Given the description of an element on the screen output the (x, y) to click on. 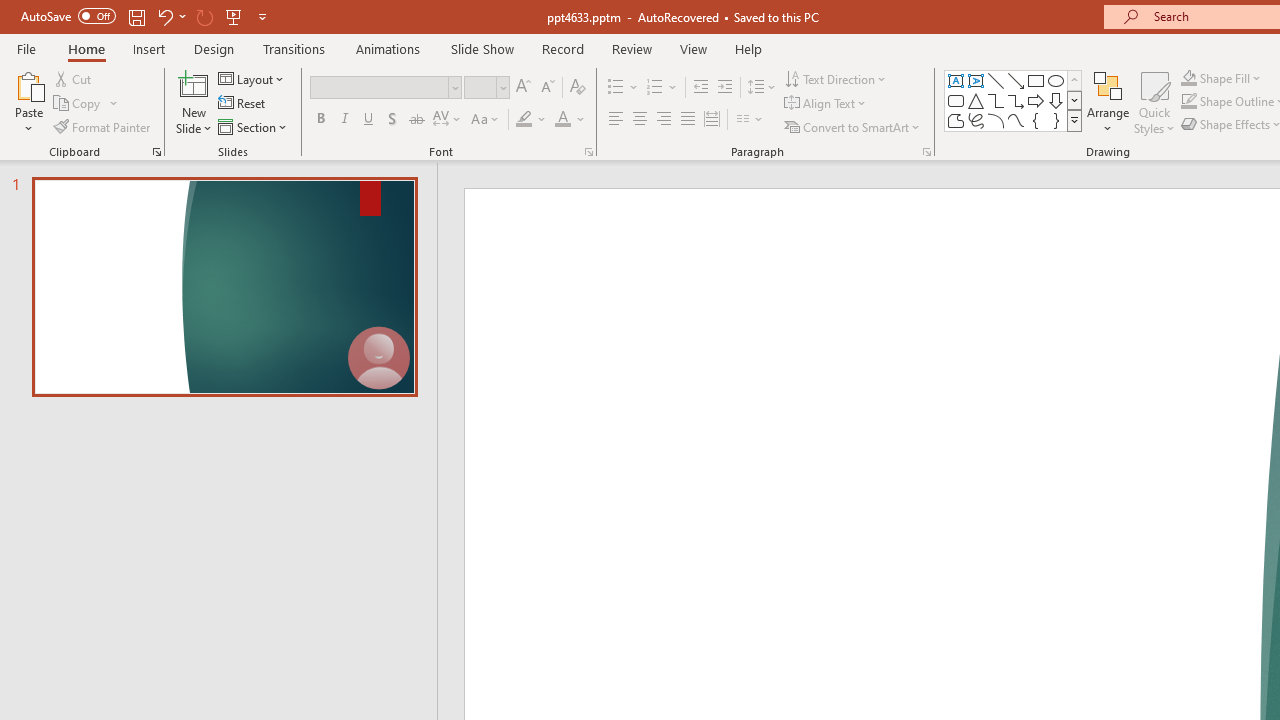
Right Brace (1055, 120)
Shape Outline Dark Red, Accent 1 (1188, 101)
Increase Font Size (522, 87)
Increase Indent (725, 87)
Font... (588, 151)
Text Direction (836, 78)
Vertical Text Box (975, 80)
